Given the description of an element on the screen output the (x, y) to click on. 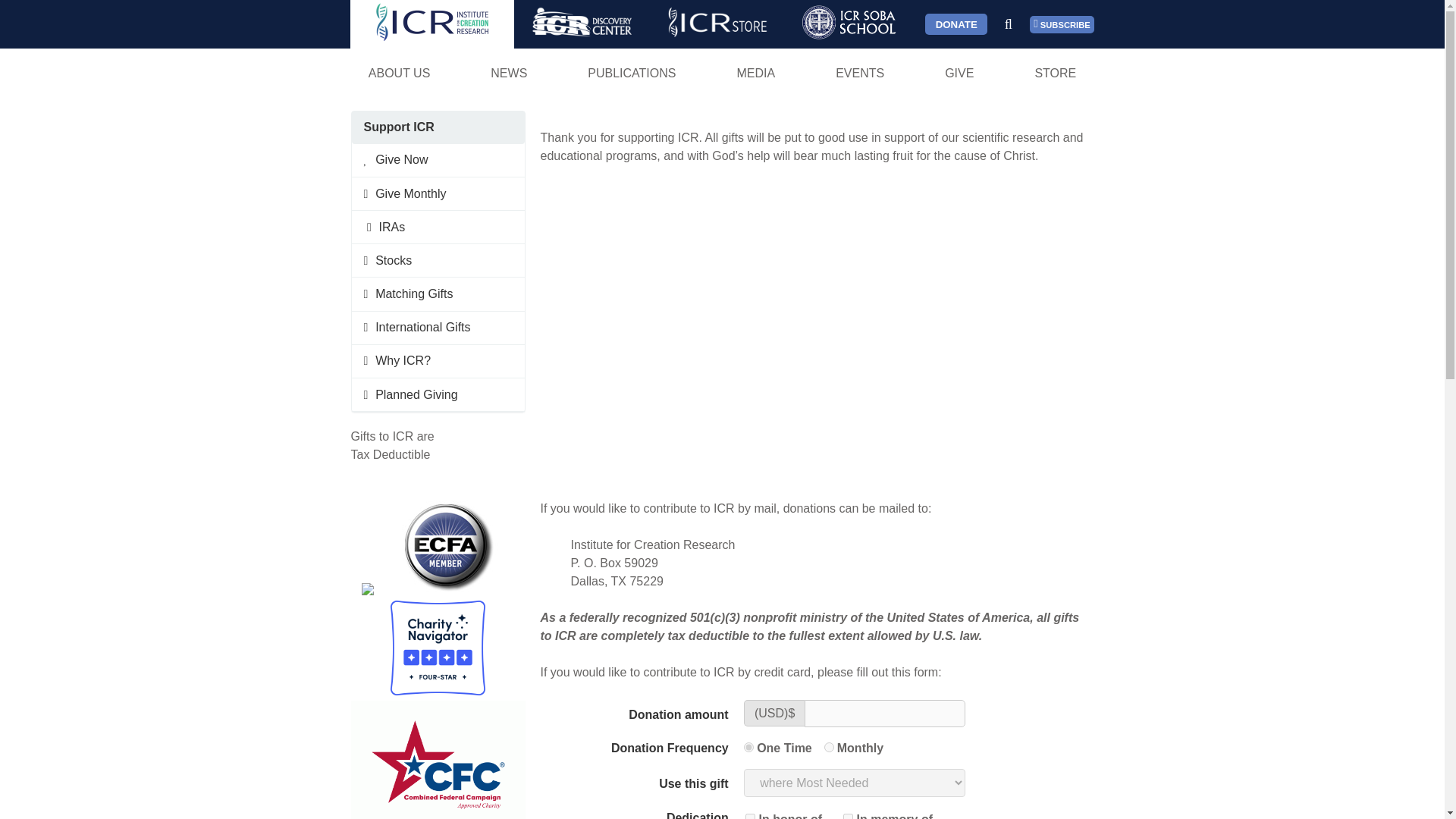
NEWS (508, 73)
PUBLICATIONS (631, 73)
monthly (829, 747)
SUBSCRIBE (1061, 24)
ICR has received a 4-Star rating from Charity Navigator (437, 647)
ABOUT US (399, 73)
on (750, 816)
onetime (749, 747)
on (848, 816)
